Given the description of an element on the screen output the (x, y) to click on. 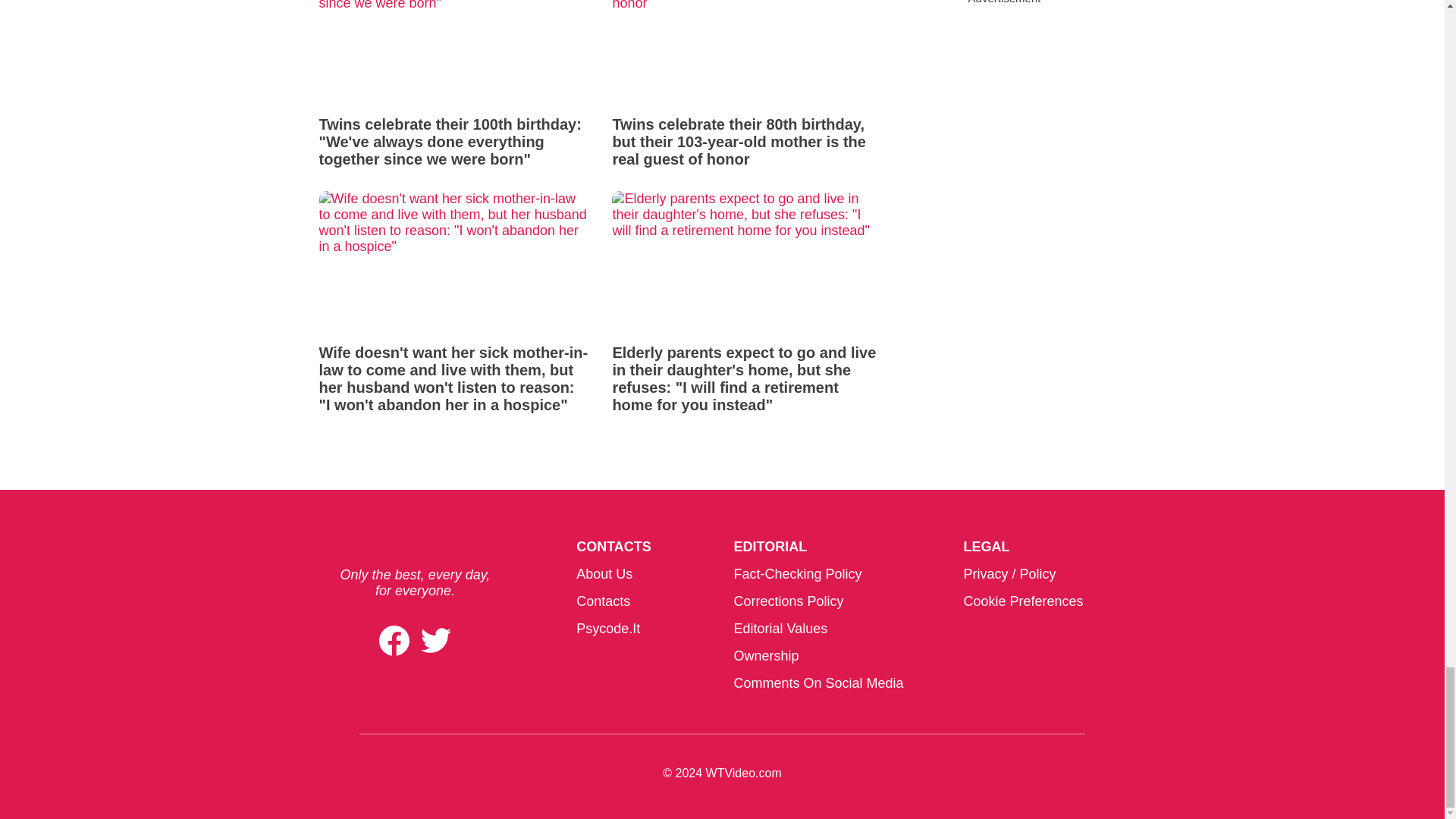
Fact-Checking Policy (797, 573)
Contacts (603, 601)
Psycode.It (608, 628)
Editorial Values (780, 628)
About Us (603, 573)
Ownership (765, 655)
